Given the description of an element on the screen output the (x, y) to click on. 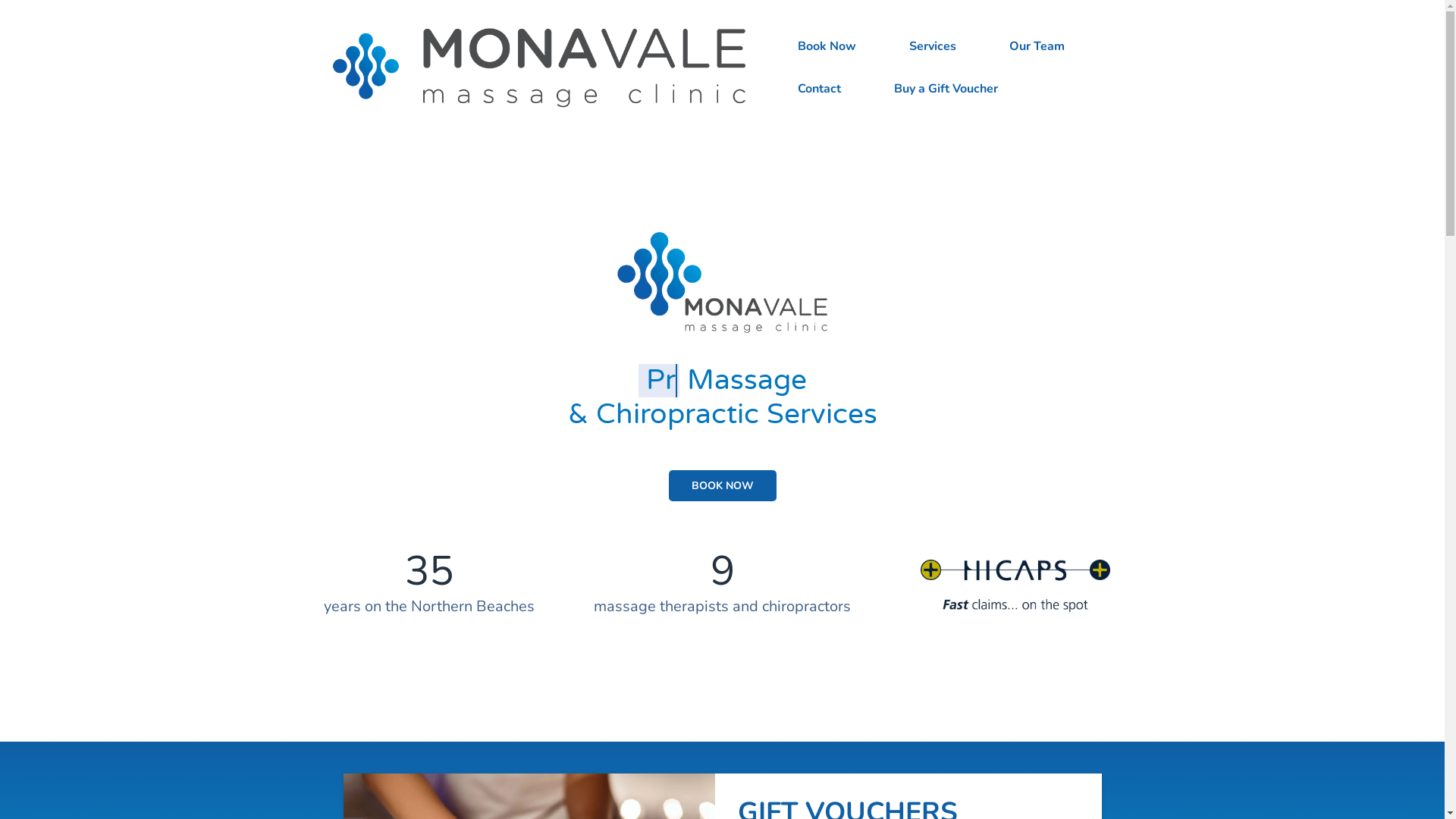
Our Team Element type: text (1036, 46)
Book Now Element type: text (826, 46)
9
massage therapists and chiropractors Element type: text (722, 585)
Mona Vale Massage Clinic Element type: hover (535, 67)
35
years on the Northern Beaches Element type: text (428, 585)
Contact Element type: text (819, 88)
Services Element type: text (932, 46)
BOOK NOW Element type: text (722, 485)
Buy a Gift Voucher Element type: text (945, 88)
